Given the description of an element on the screen output the (x, y) to click on. 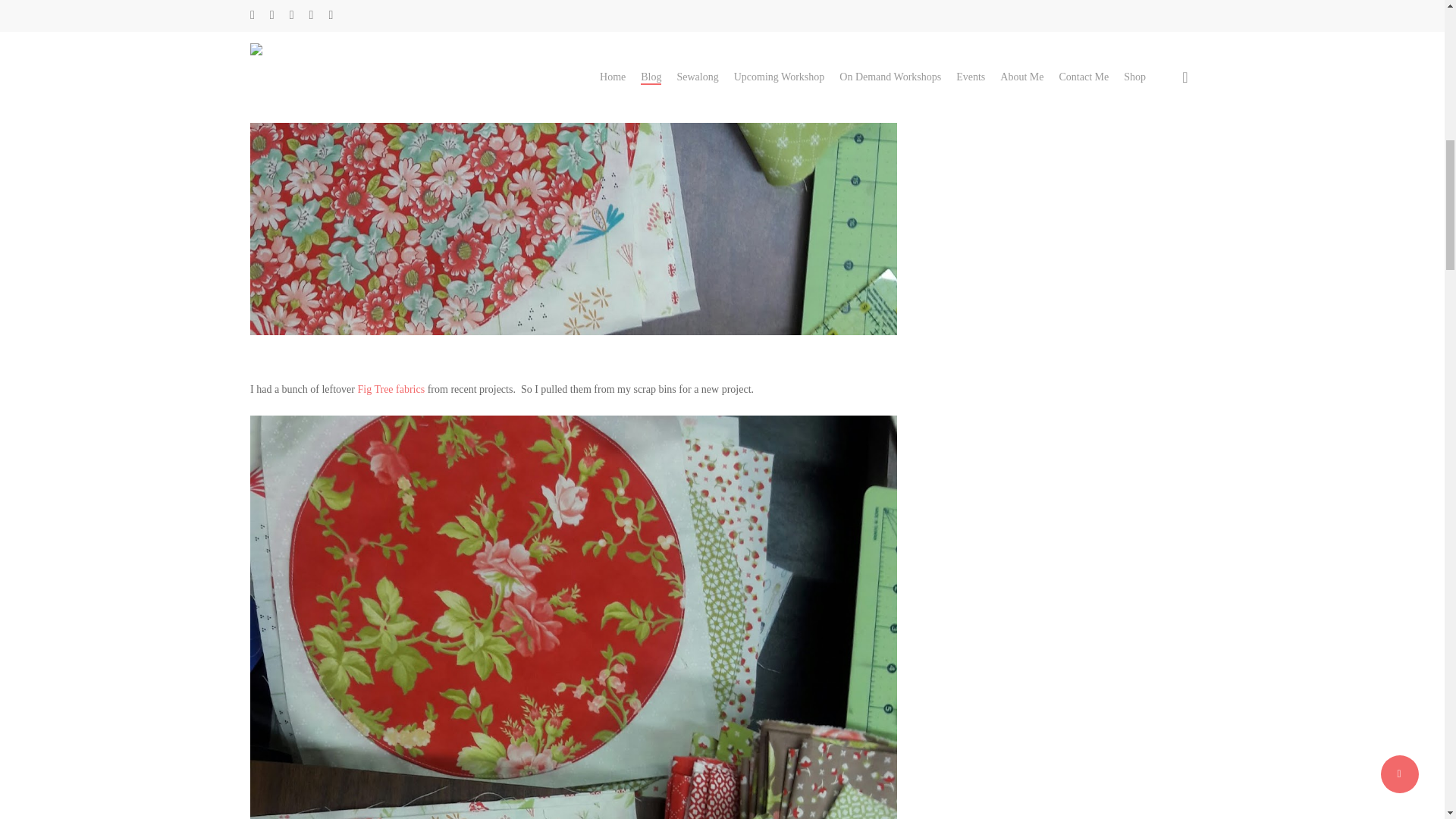
Fig Tree fabrics (391, 389)
Time Saving Tip for Scrap Quilting (1055, 41)
Majestic Mountain Quilt Possibilities (1041, 10)
